Given the description of an element on the screen output the (x, y) to click on. 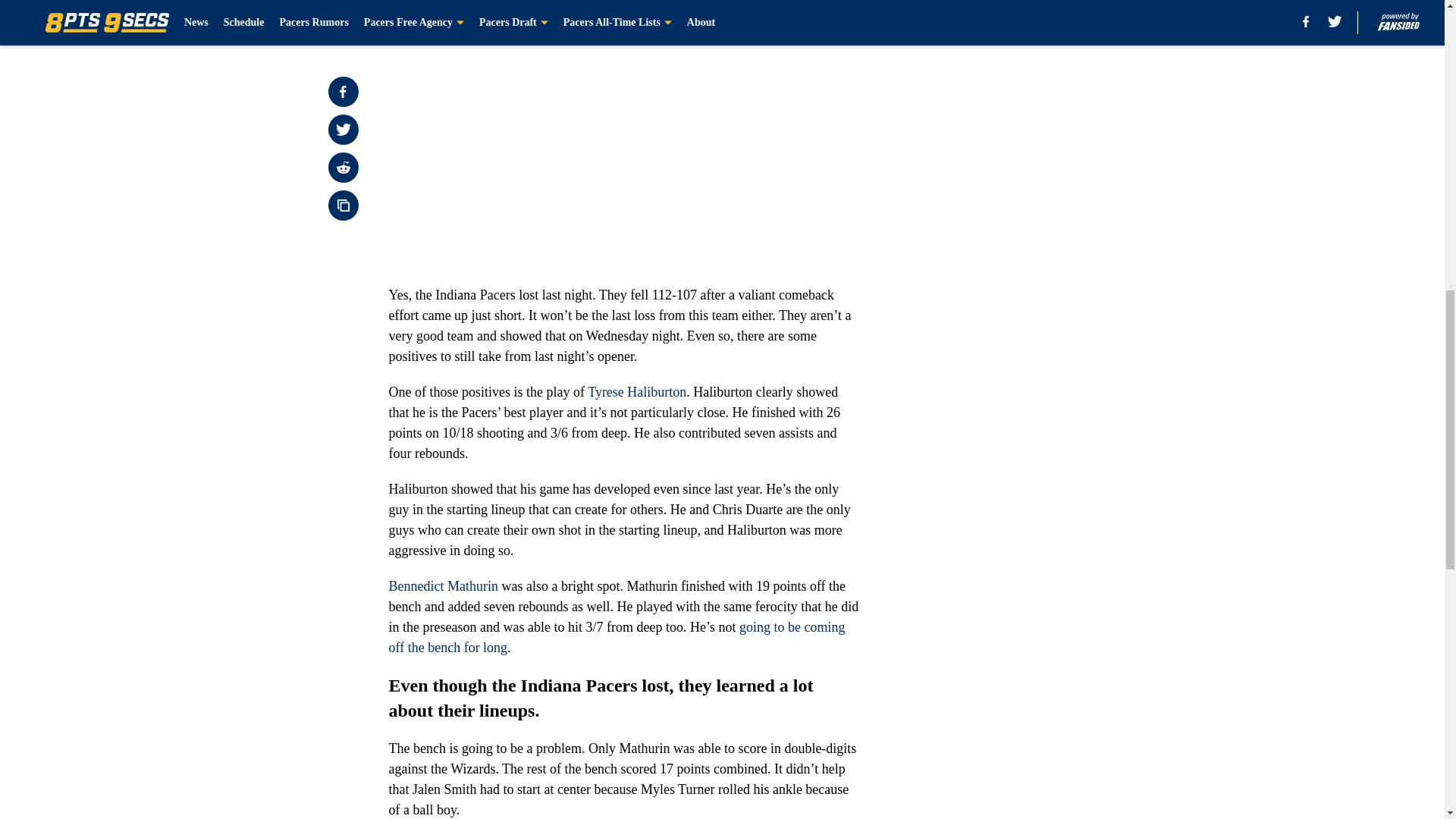
Tyrese Haliburton (636, 391)
going to be coming off the bench for long (616, 637)
Bennedict Mathurin (442, 585)
